Given the description of an element on the screen output the (x, y) to click on. 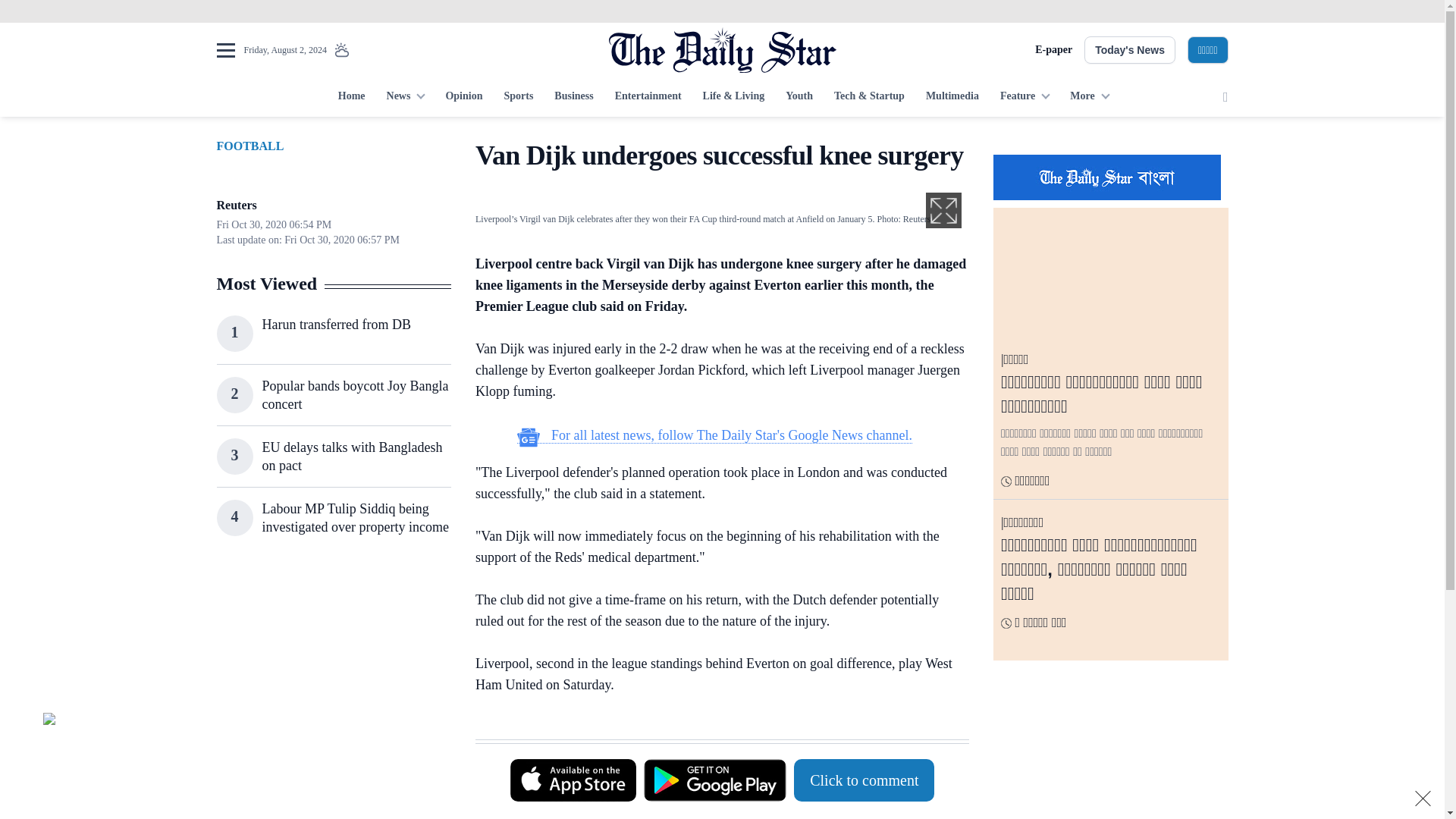
E-paper (1053, 49)
Today's News (1129, 49)
Multimedia (952, 96)
News (405, 96)
Youth (799, 96)
Feature (1024, 96)
Sports (518, 96)
Business (573, 96)
Home (351, 96)
Opinion (463, 96)
Entertainment (647, 96)
